Given the description of an element on the screen output the (x, y) to click on. 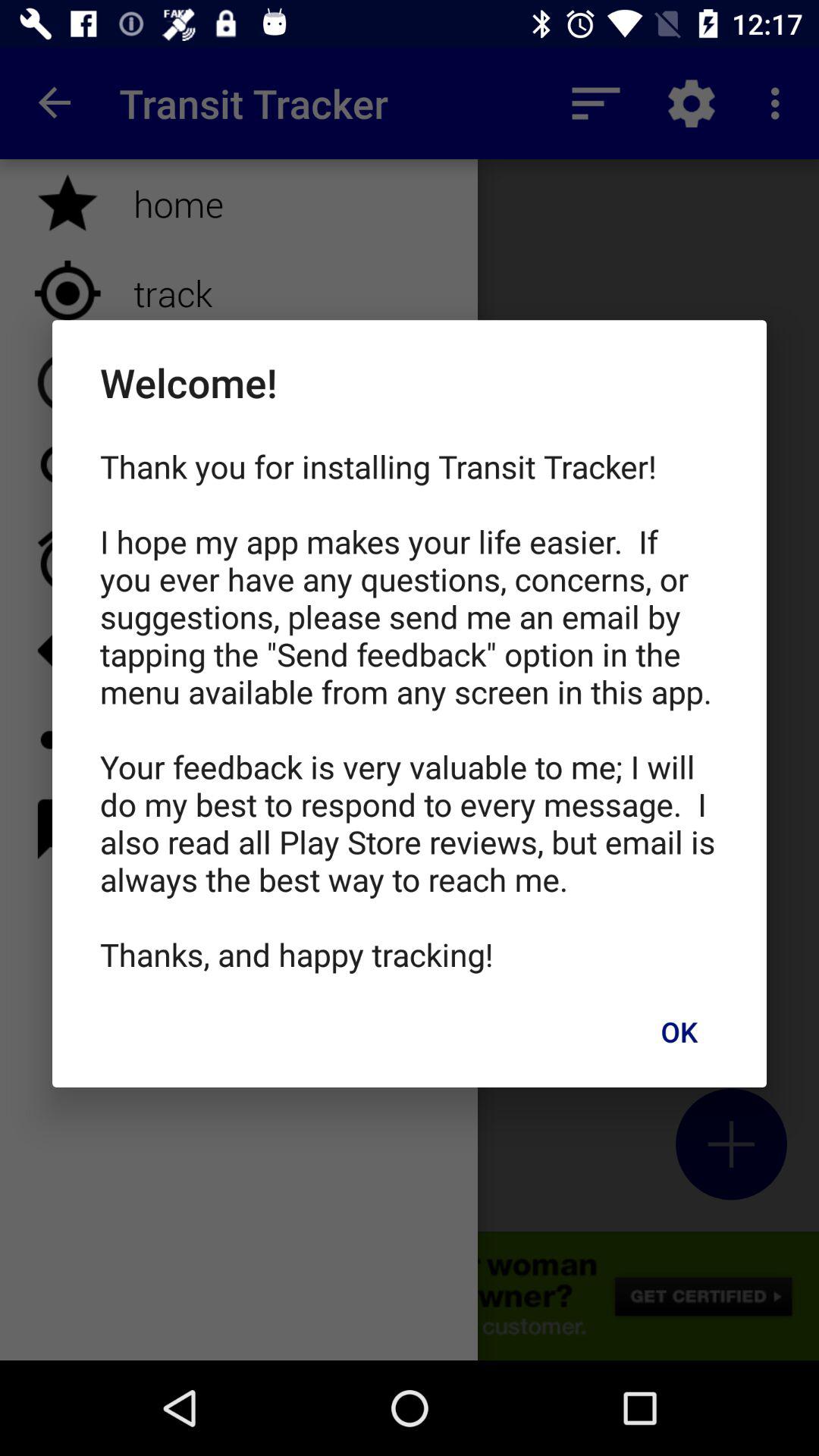
jump to ok icon (678, 1031)
